Given the description of an element on the screen output the (x, y) to click on. 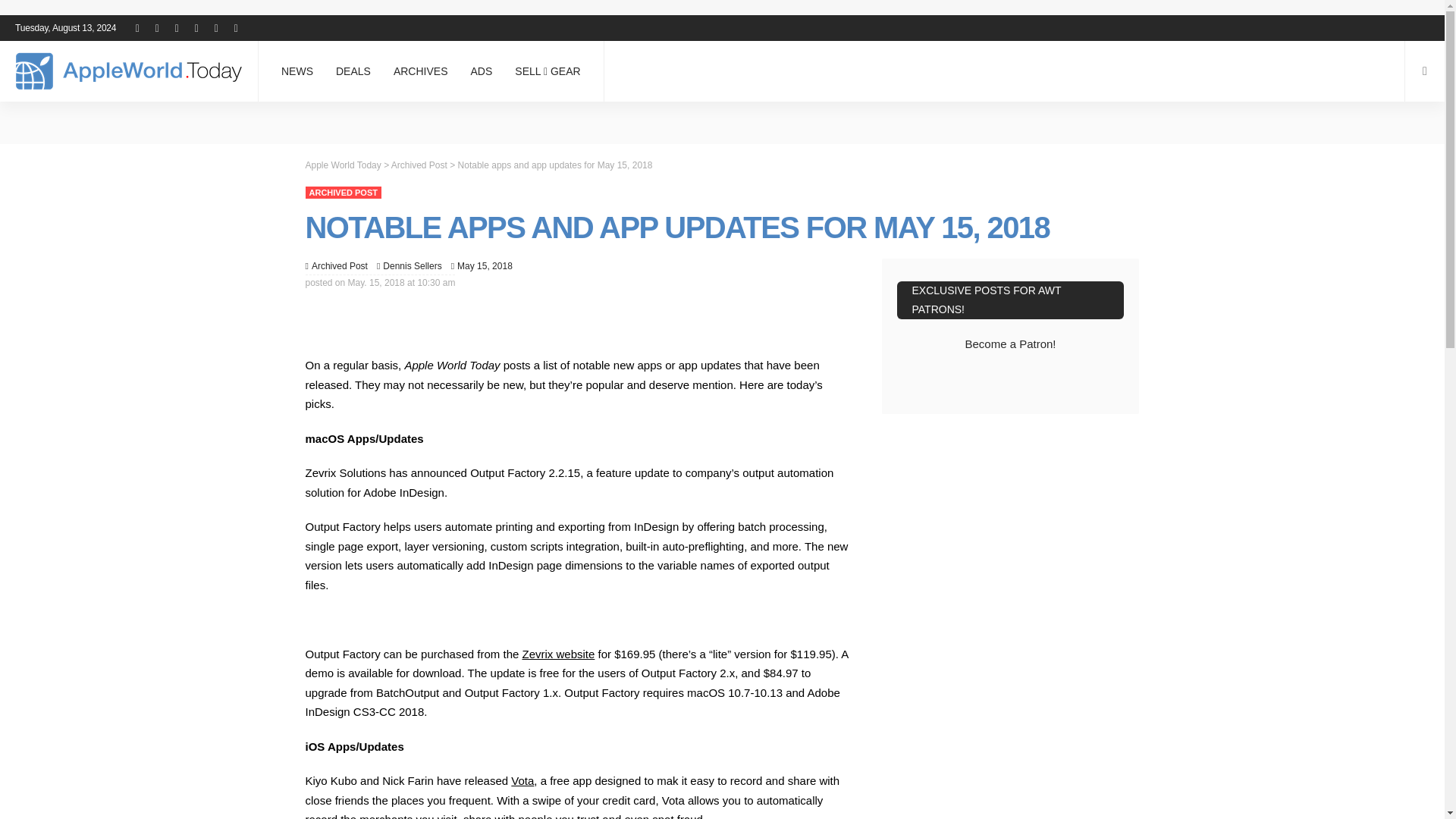
Archived Post (339, 265)
Go to Apple World Today. (342, 163)
Apple World Today (128, 70)
Archived Post (342, 192)
Go to the Archived Post Category archives. (418, 163)
